Given the description of an element on the screen output the (x, y) to click on. 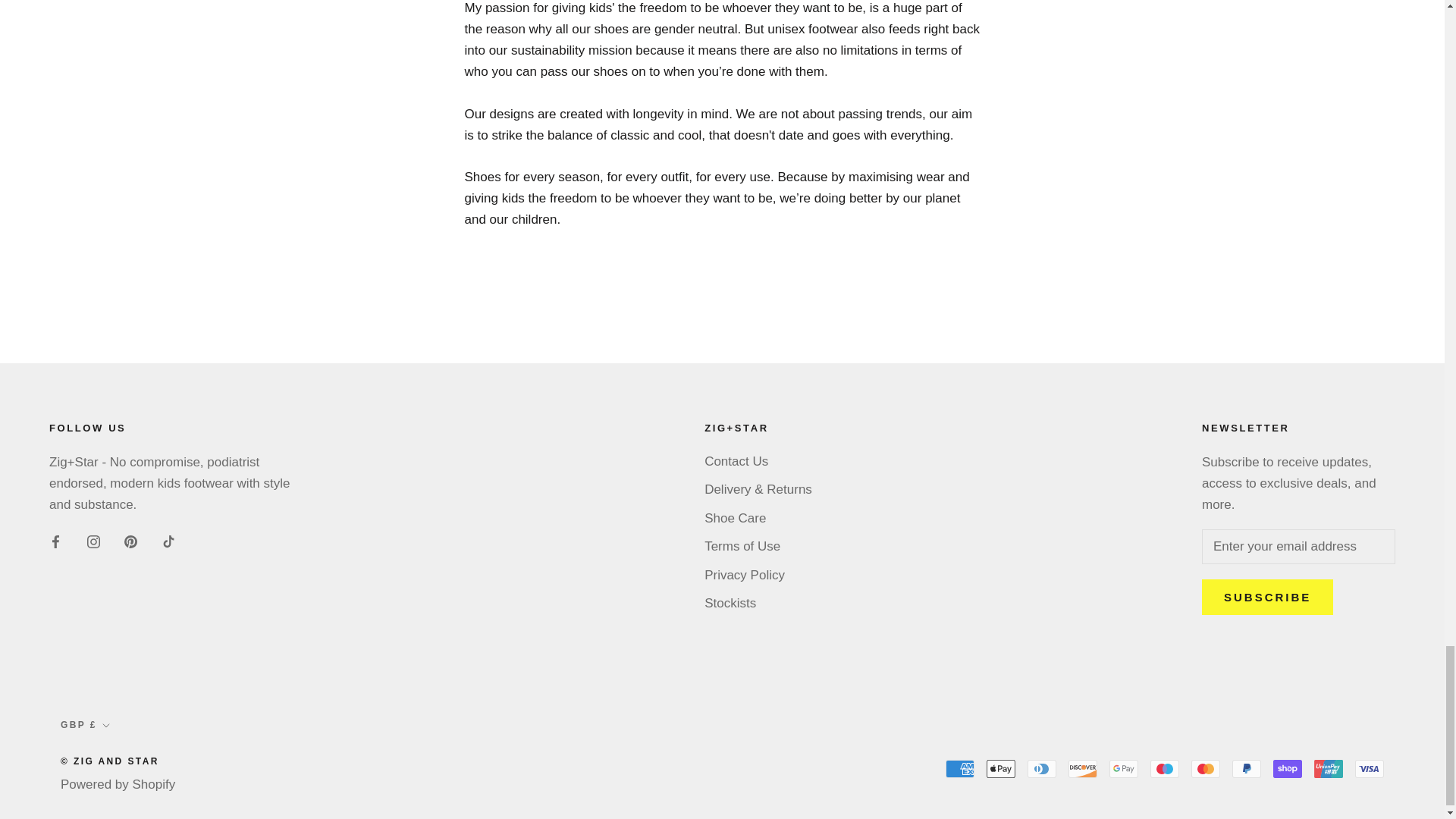
Shop Pay (1286, 769)
Discover (1082, 769)
PayPal (1245, 769)
Apple Pay (1000, 769)
Mastercard (1205, 769)
Google Pay (1123, 769)
Diners Club (1042, 769)
American Express (959, 769)
Visa (1369, 769)
Union Pay (1328, 769)
Maestro (1164, 769)
